Given the description of an element on the screen output the (x, y) to click on. 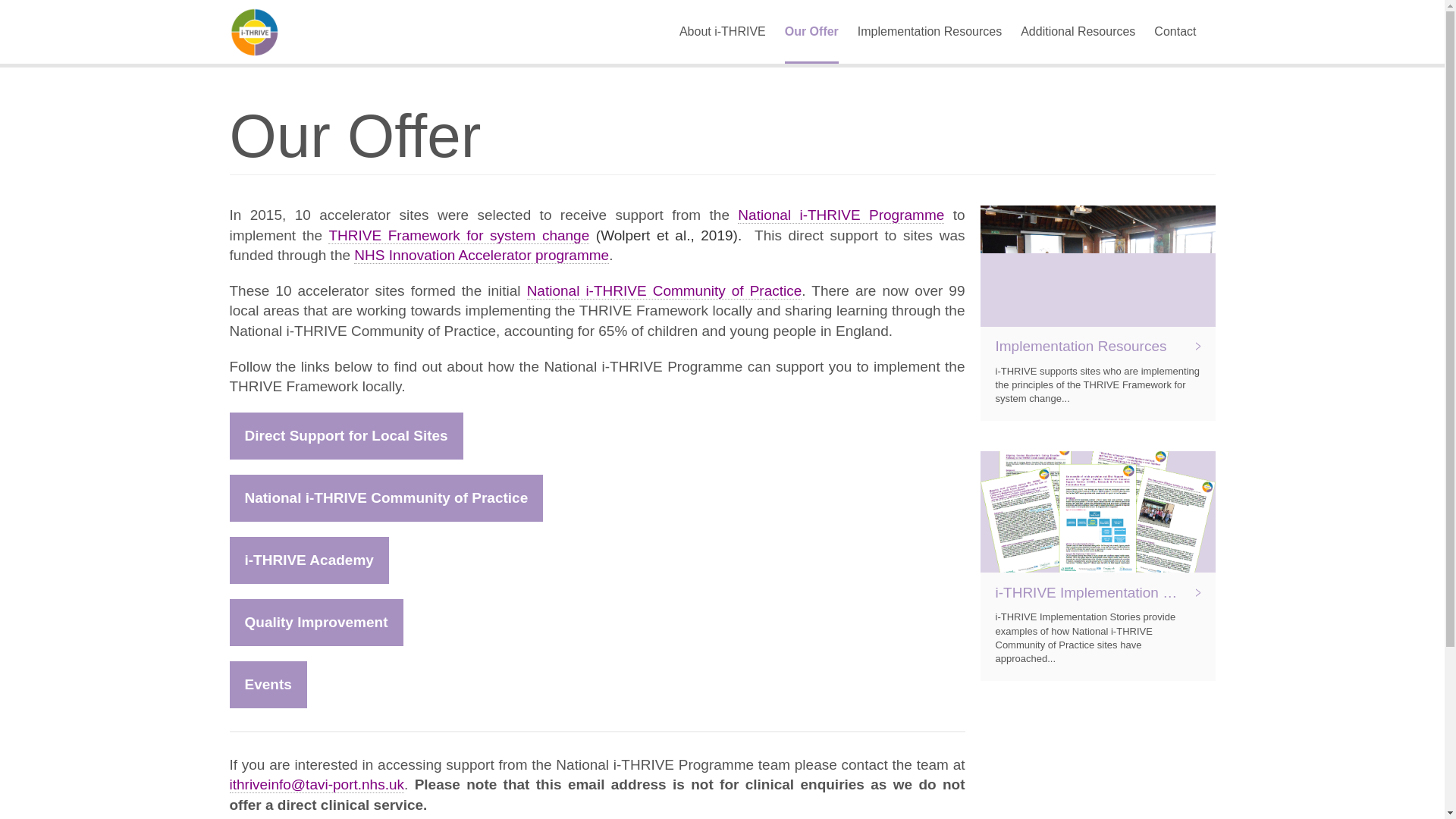
National i-THRIVE Community of Practice (664, 290)
Direct Support for Local Sites (345, 435)
Quality Improvement (315, 622)
Implementation Resources (929, 31)
View i-THRIVE Implementation Stories (1096, 565)
National i-THRIVE Community of Practice (385, 498)
i-THRIVE (268, 32)
National i-THRIVE Programme (840, 215)
About i-THRIVE (722, 31)
THRIVE Framework for system change (459, 235)
View Implementation Resources (1096, 312)
Additional Resources (1077, 31)
i-THRIVE Academy (308, 560)
NHS Innovation Accelerator programme (480, 255)
